Given the description of an element on the screen output the (x, y) to click on. 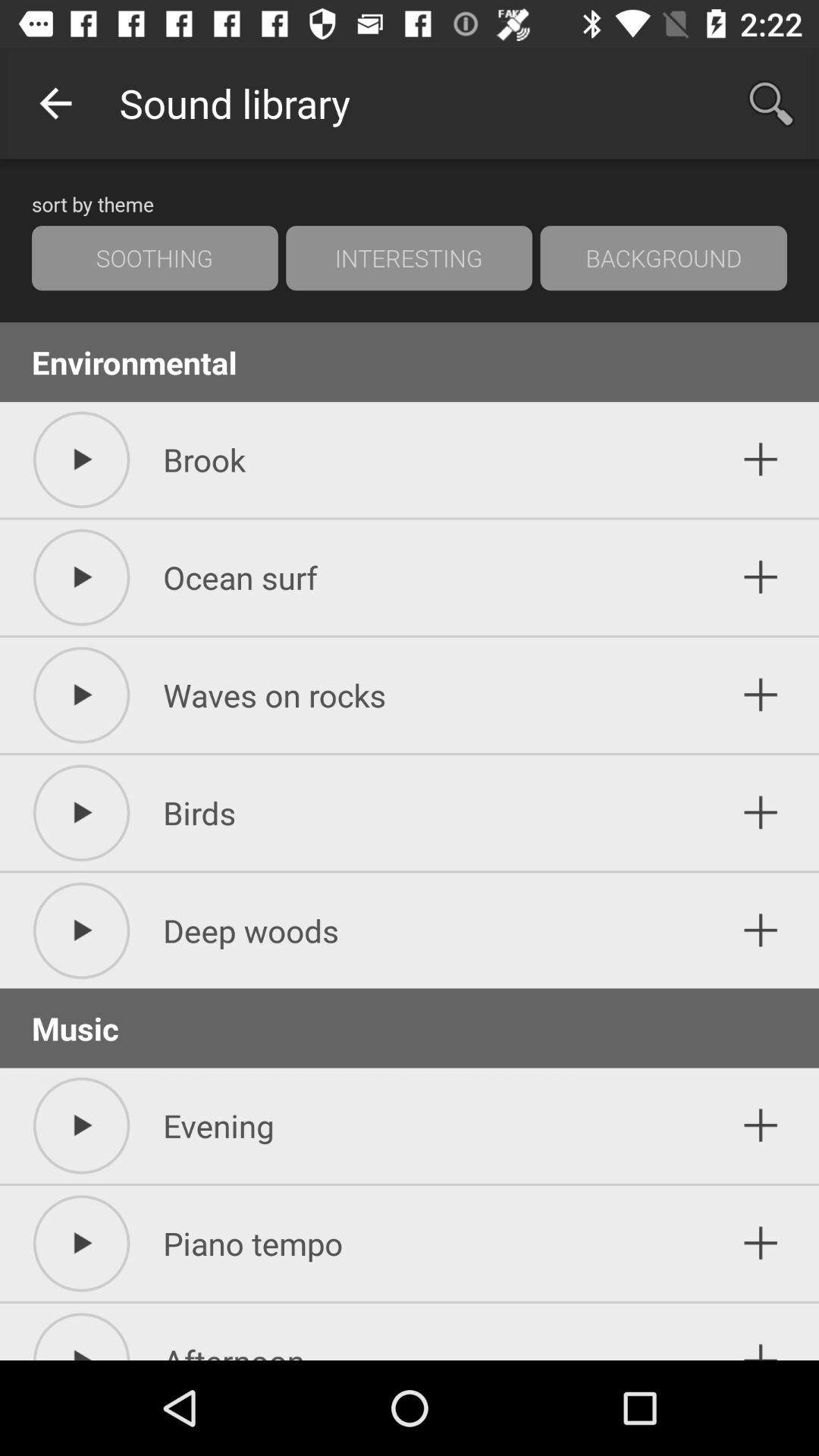
choose background (663, 257)
